Given the description of an element on the screen output the (x, y) to click on. 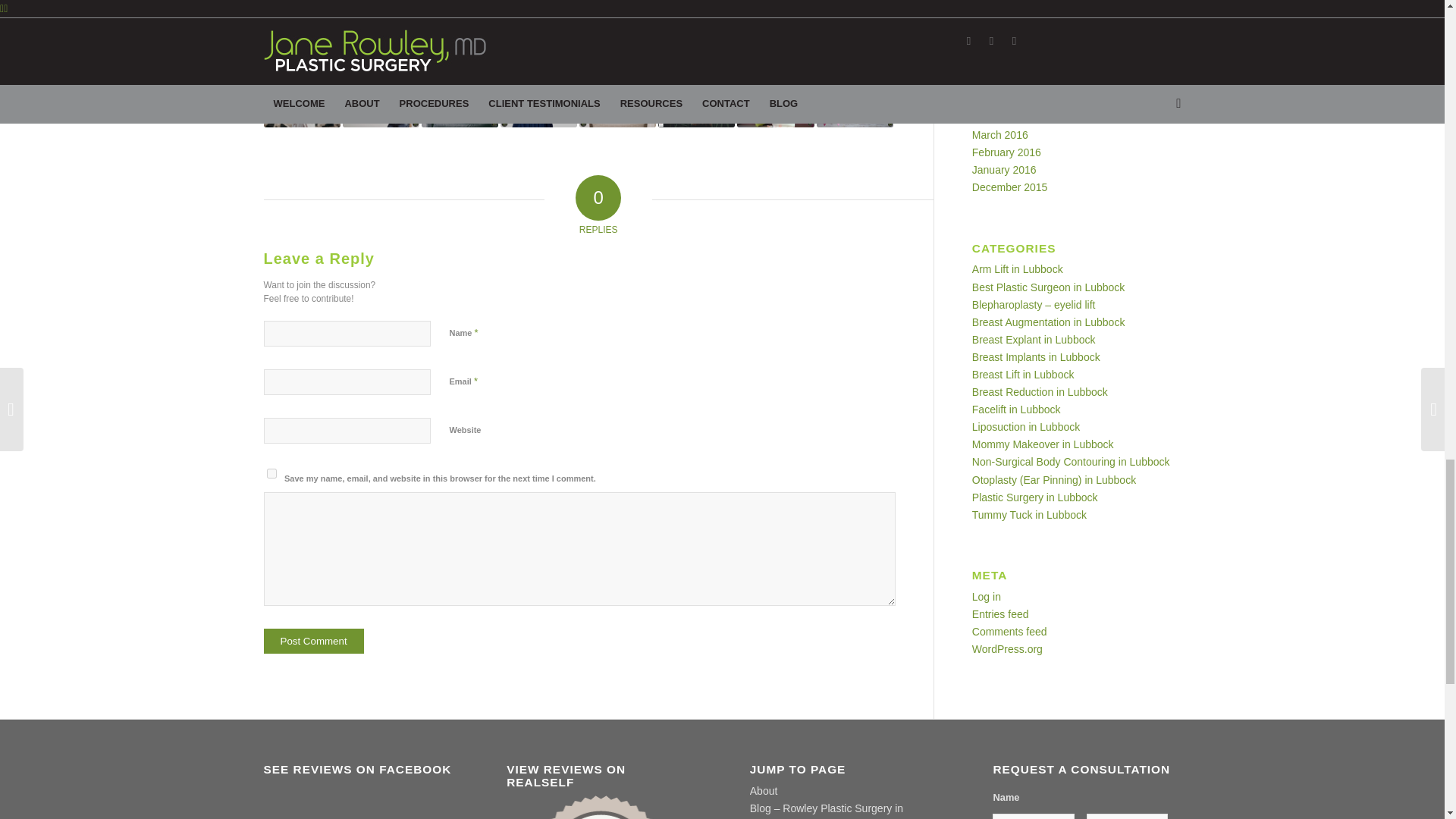
yes (271, 473)
Post Comment (313, 640)
